Given the description of an element on the screen output the (x, y) to click on. 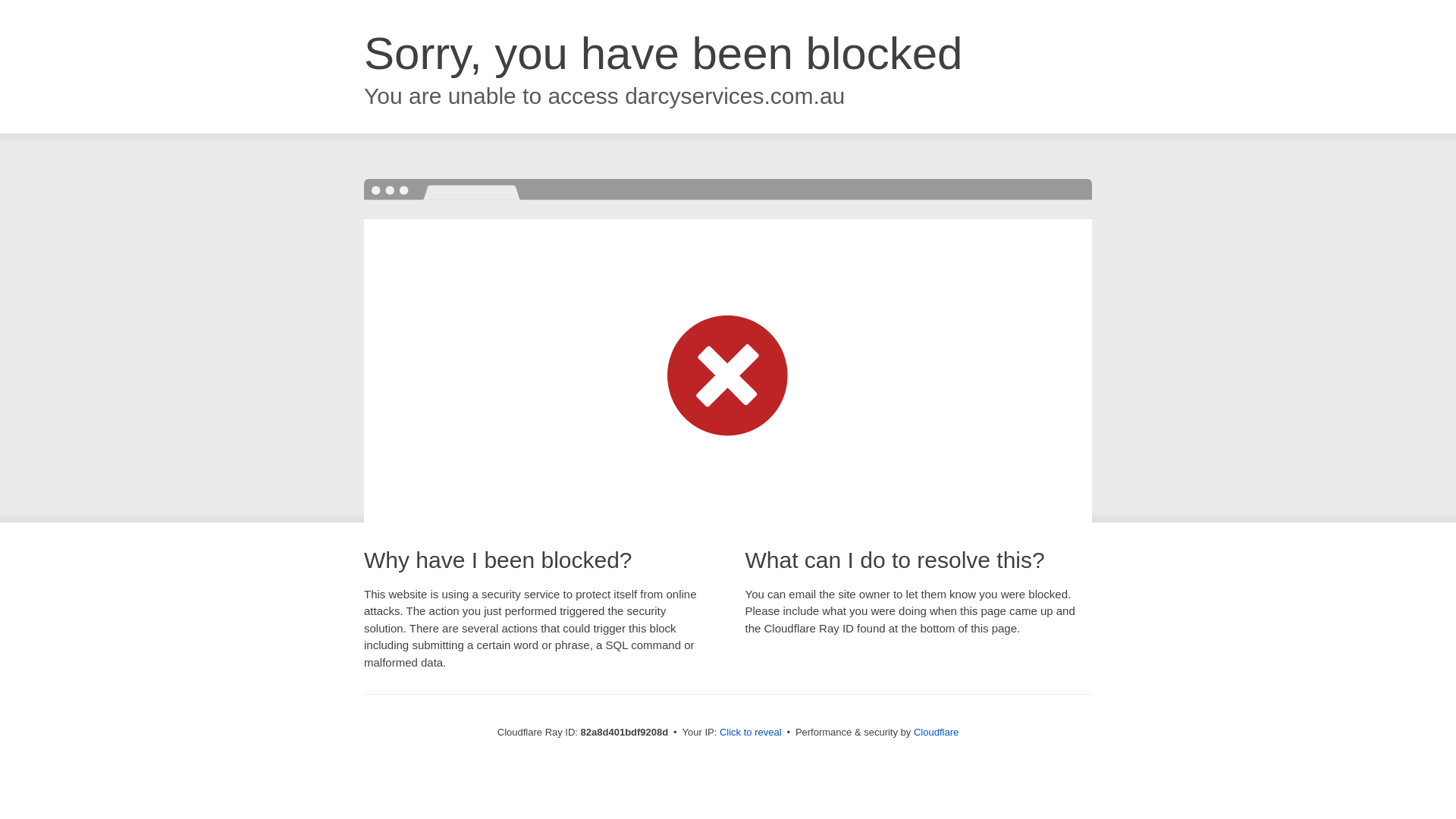
Cloudflare Element type: text (935, 731)
Click to reveal Element type: text (750, 732)
